Given the description of an element on the screen output the (x, y) to click on. 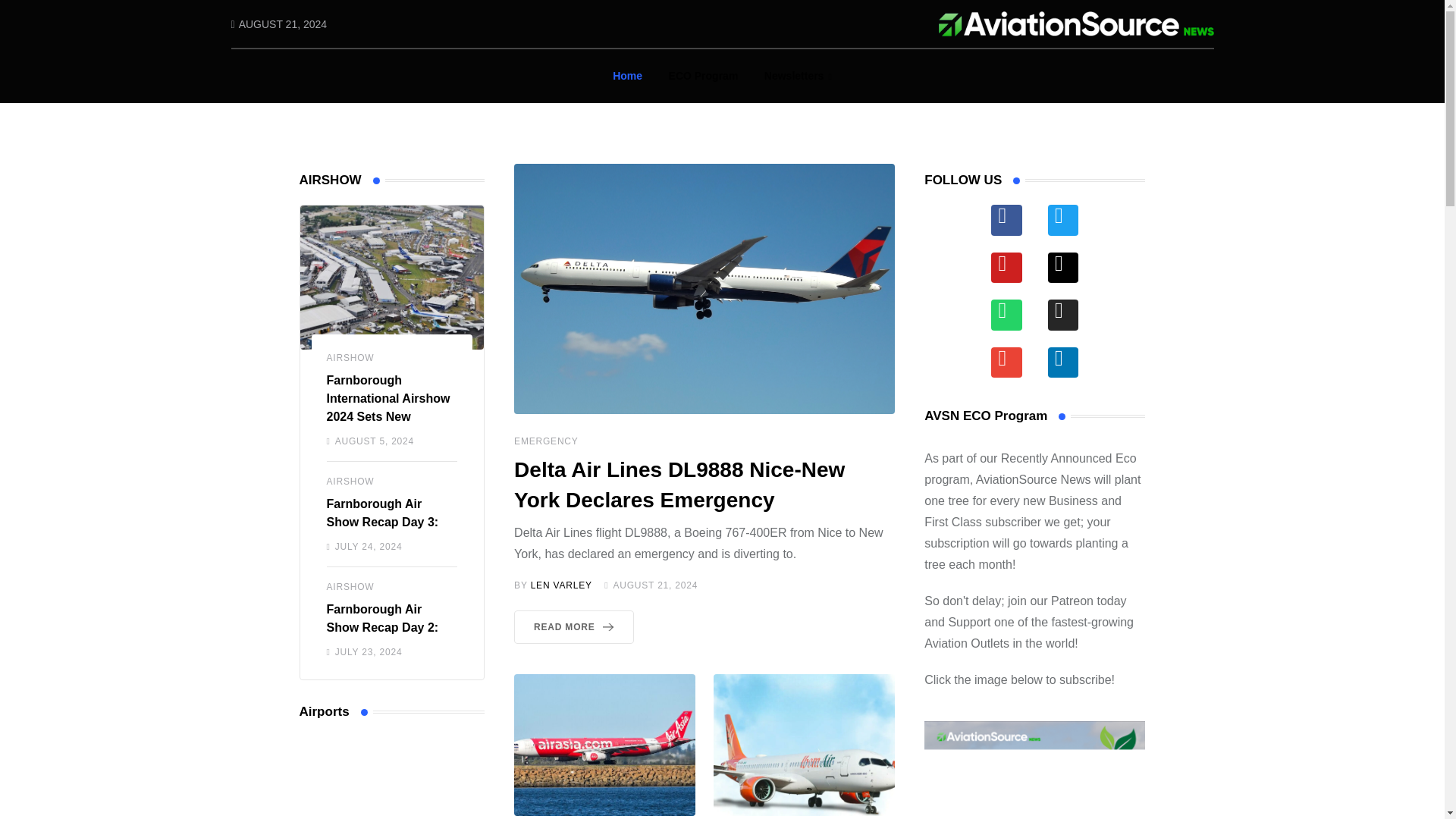
LEN VARLEY (561, 584)
Farnborough International Airshow 2024 Sets New (387, 398)
ECO Program (703, 75)
Newsletters (797, 76)
AIRSHOW (350, 481)
EMERGENCY (545, 440)
AIRSHOW (350, 586)
AIRSHOW (350, 357)
Home (627, 75)
Posts by Len Varley (561, 584)
